Given the description of an element on the screen output the (x, y) to click on. 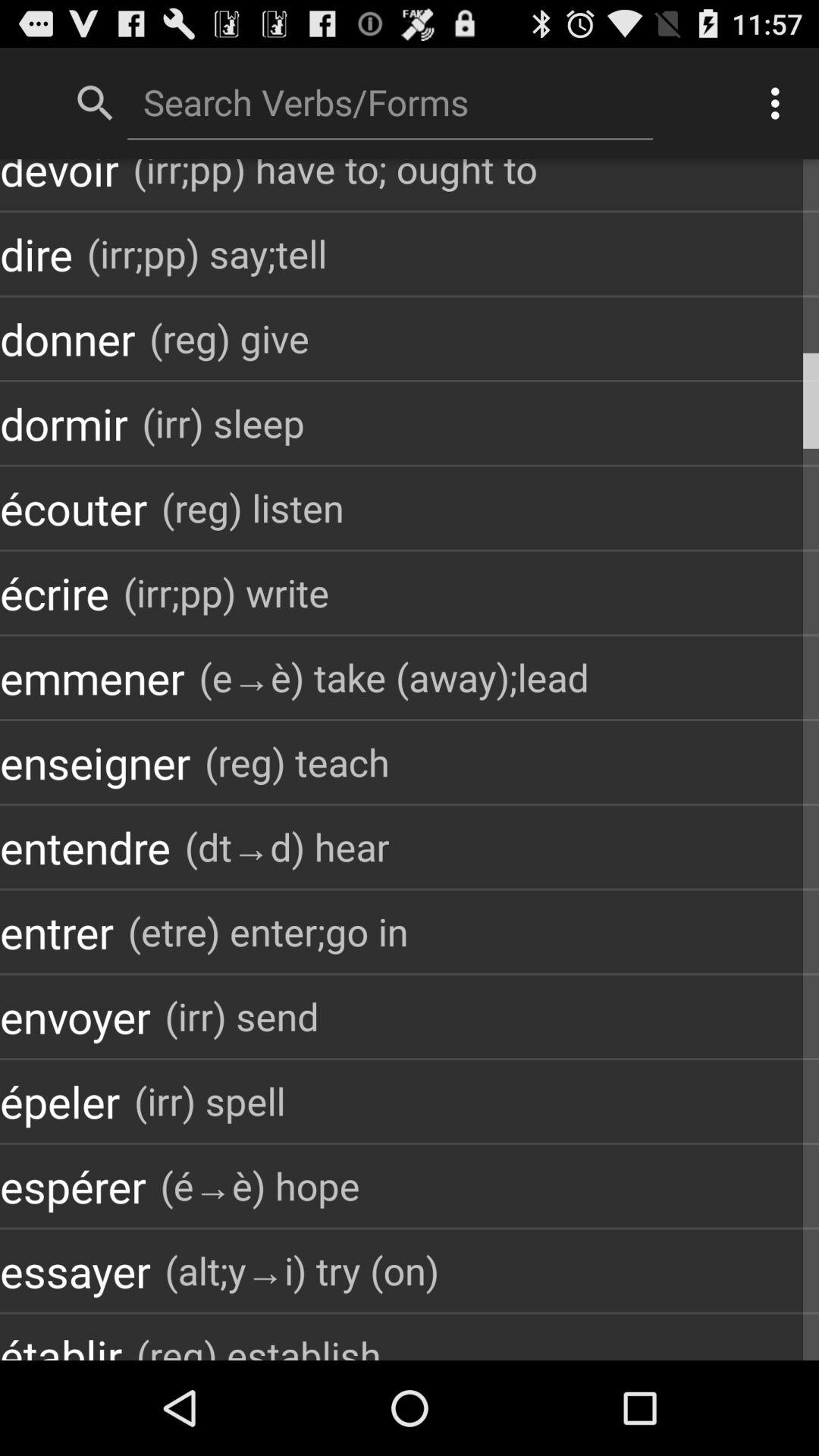
turn on item next to the essayer app (301, 1270)
